Given the description of an element on the screen output the (x, y) to click on. 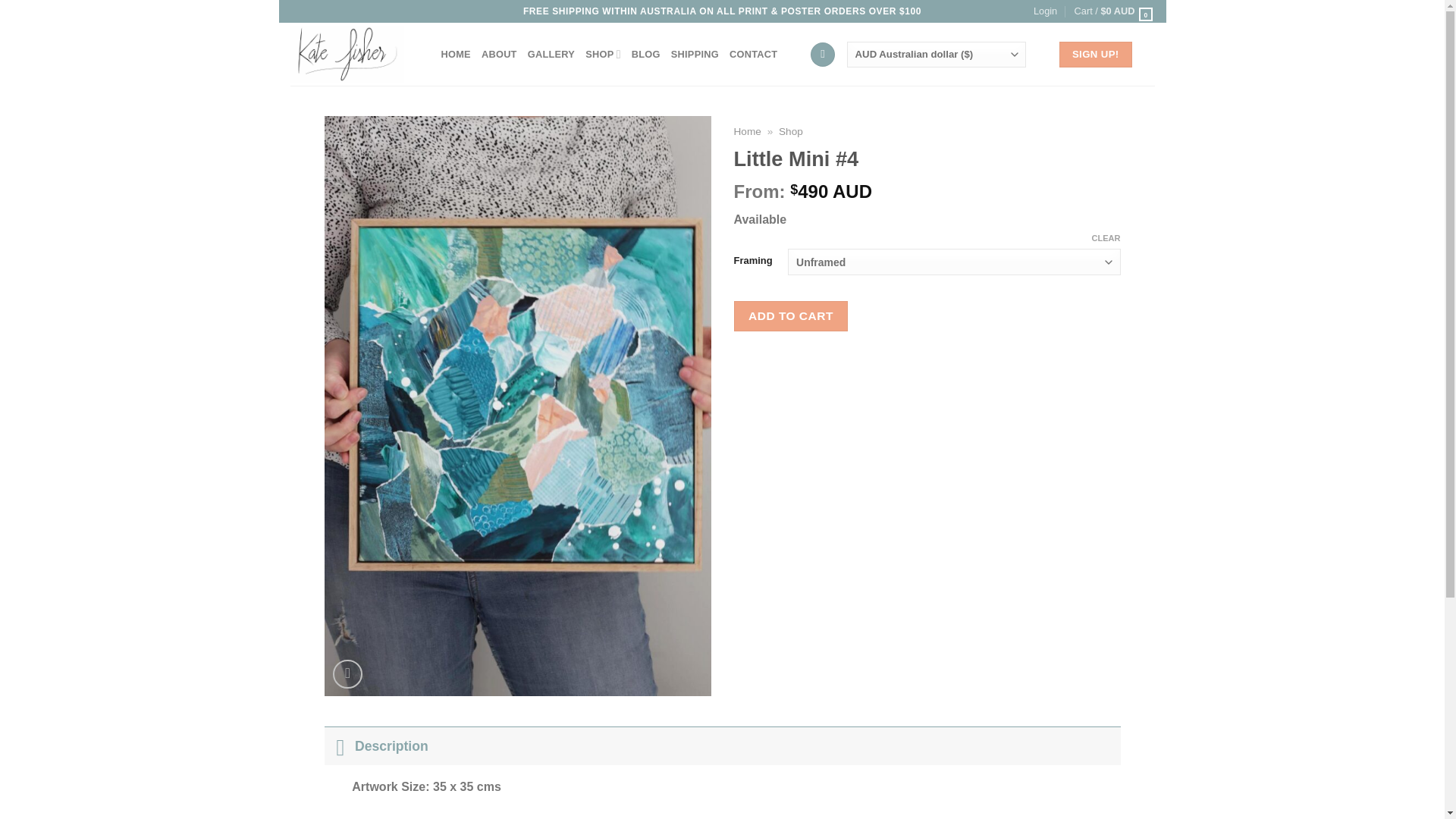
Shop (790, 131)
CONTACT (753, 54)
SHIPPING (695, 54)
SHOP (603, 54)
ADD TO CART (790, 315)
BLOG (646, 54)
HOME (455, 54)
Zoom (347, 674)
GALLERY (551, 54)
Home (747, 131)
ABOUT (498, 54)
